Given the description of an element on the screen output the (x, y) to click on. 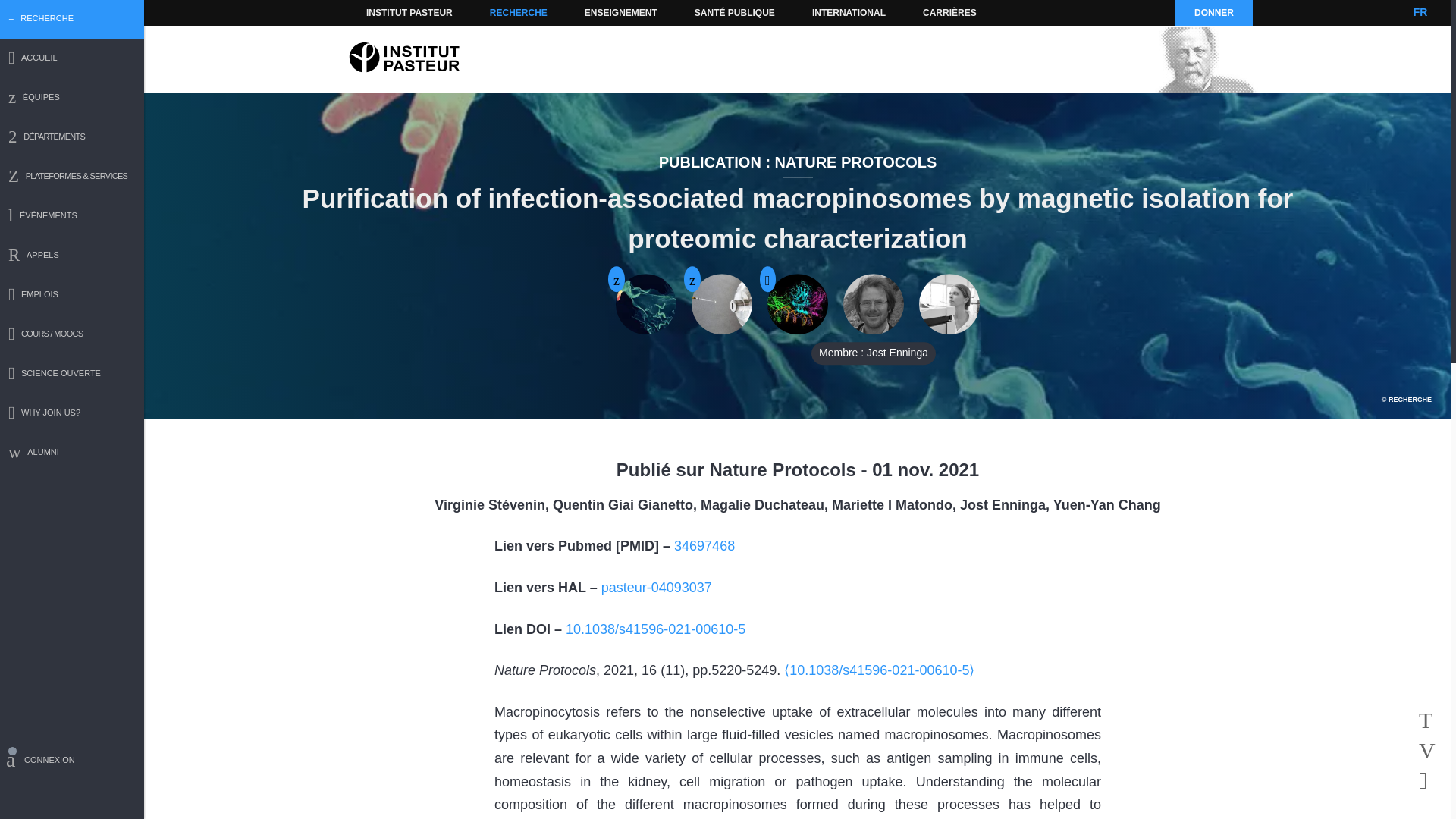
Aller au contenu (391, 11)
SCIENCE OUVERTE (72, 374)
WHY JOIN US? (72, 413)
INTERNATIONAL (848, 12)
APPELS (72, 256)
pasteur-04093037 (656, 587)
INSTITUT PASTEUR (409, 12)
RECHERCHE (518, 12)
FR (1419, 11)
ENSEIGNEMENT (620, 12)
DONNER (1213, 12)
ACCUEIL (72, 59)
Membre : Jost Enninga (873, 304)
34697468 (704, 545)
EMPLOIS (72, 296)
